Given the description of an element on the screen output the (x, y) to click on. 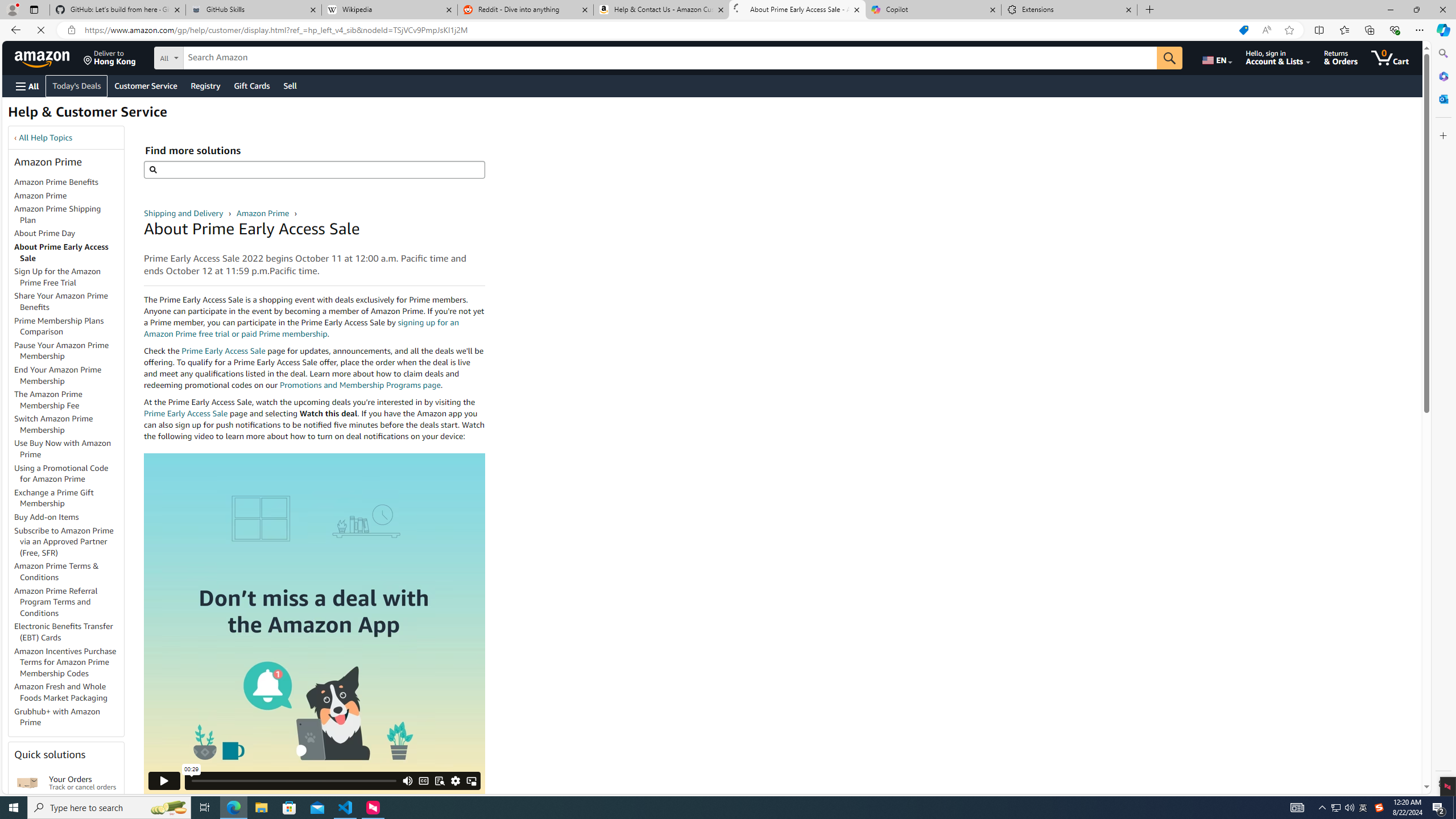
Returns & Orders (1349, 57)
Today's Deals (38, 106)
0 items in cart (1398, 57)
Amazon (43, 57)
Coupons (85, 106)
